Given the description of an element on the screen output the (x, y) to click on. 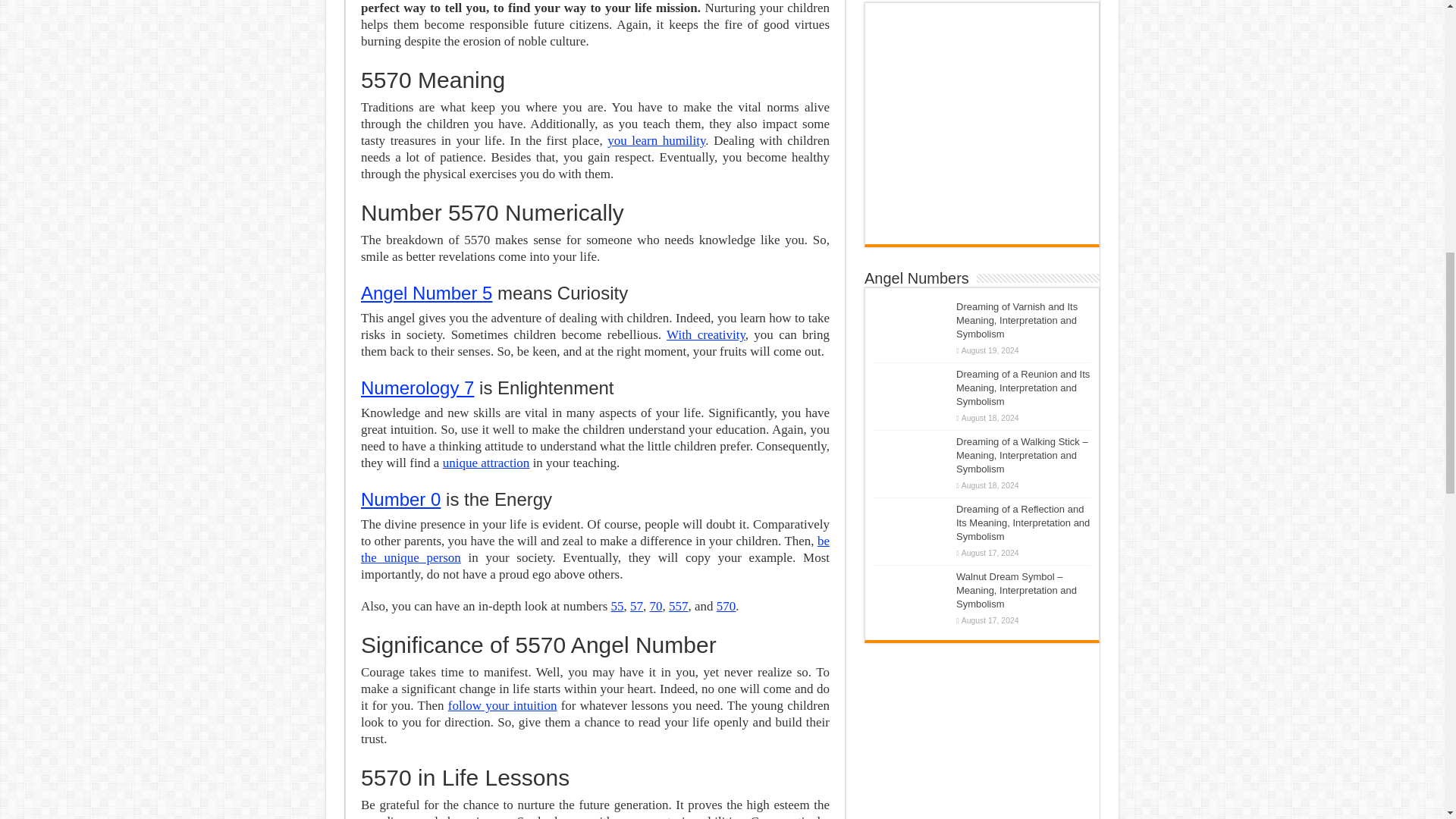
70 (655, 605)
Number 0 (401, 498)
unique attraction (485, 462)
570 (726, 605)
55 (617, 605)
557 (678, 605)
57 (636, 605)
you learn humility (655, 140)
follow your intuition (502, 705)
Numerology 7 (417, 387)
